Given the description of an element on the screen output the (x, y) to click on. 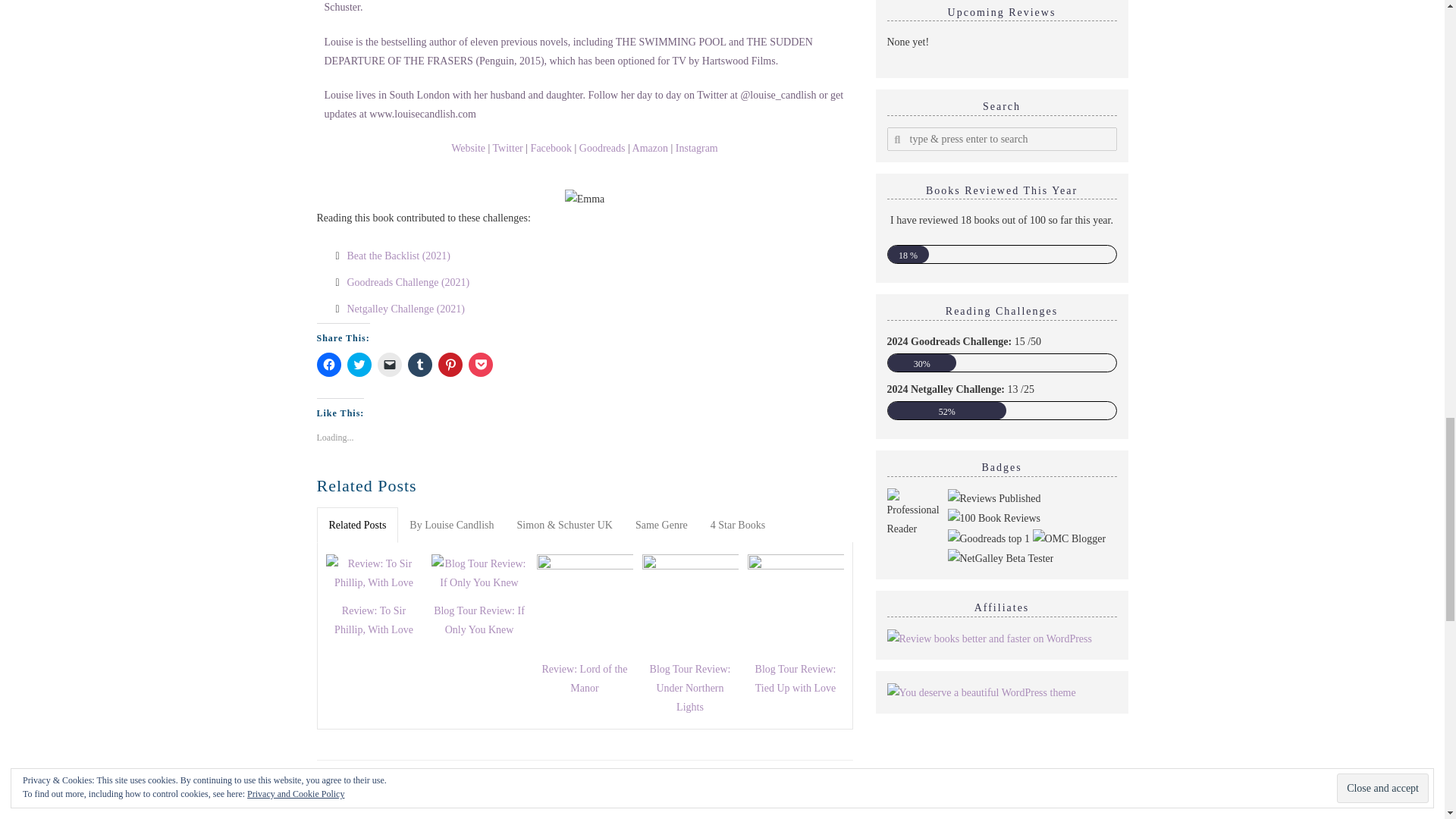
Twitter (507, 147)
Website (467, 147)
Click to share on Pinterest (450, 364)
Review books better and faster on WordPress (989, 637)
Click to share on Tumblr (419, 364)
Click to email a link to a friend (389, 364)
Goodreads top 1 (988, 538)
100 Book Reviews (994, 517)
Amazon (649, 147)
OMC Blogger (1069, 538)
